Given the description of an element on the screen output the (x, y) to click on. 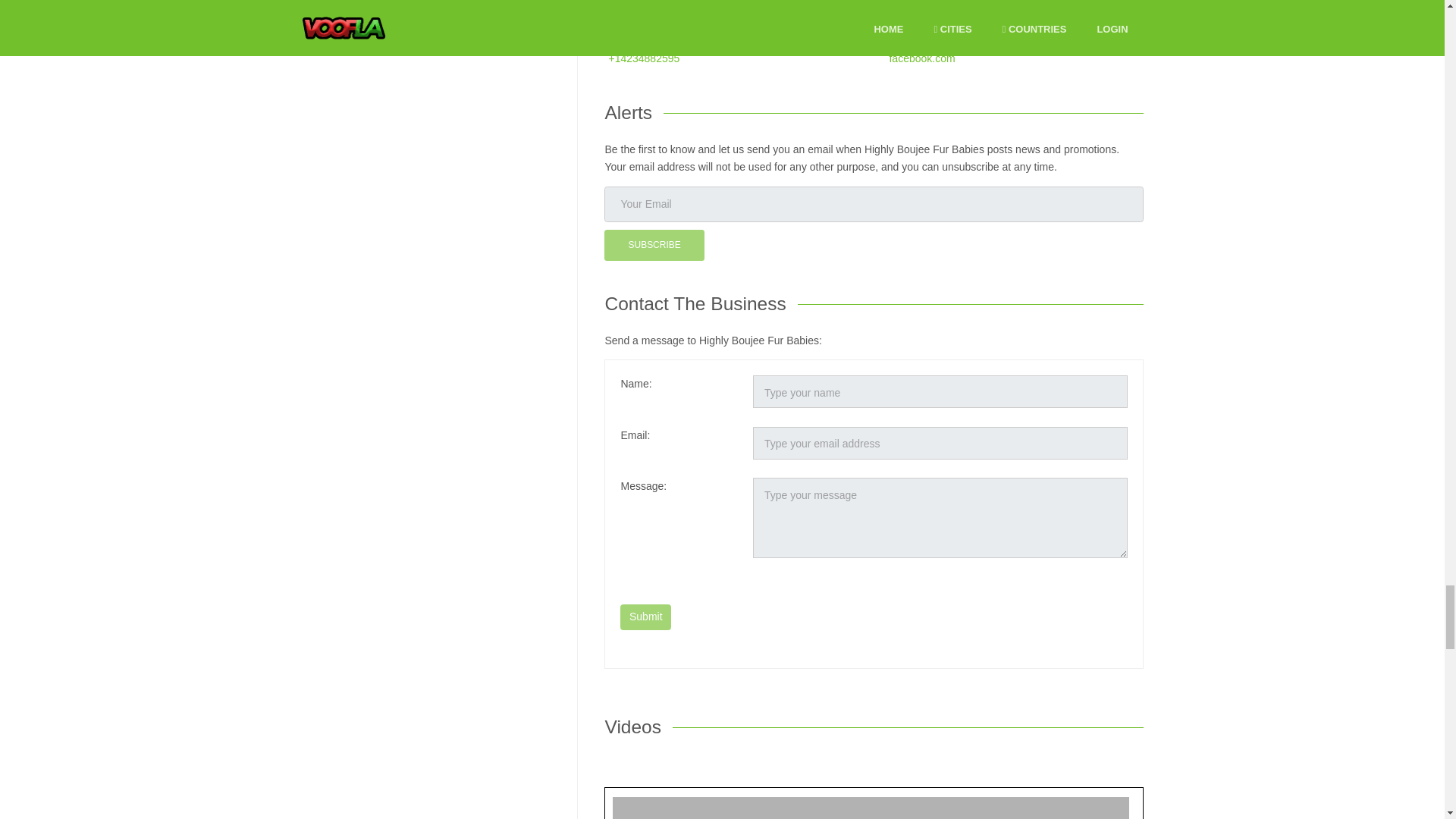
Submit (645, 616)
facebook.com (921, 58)
SUBSCRIBE (653, 245)
Submit (645, 616)
